Given the description of an element on the screen output the (x, y) to click on. 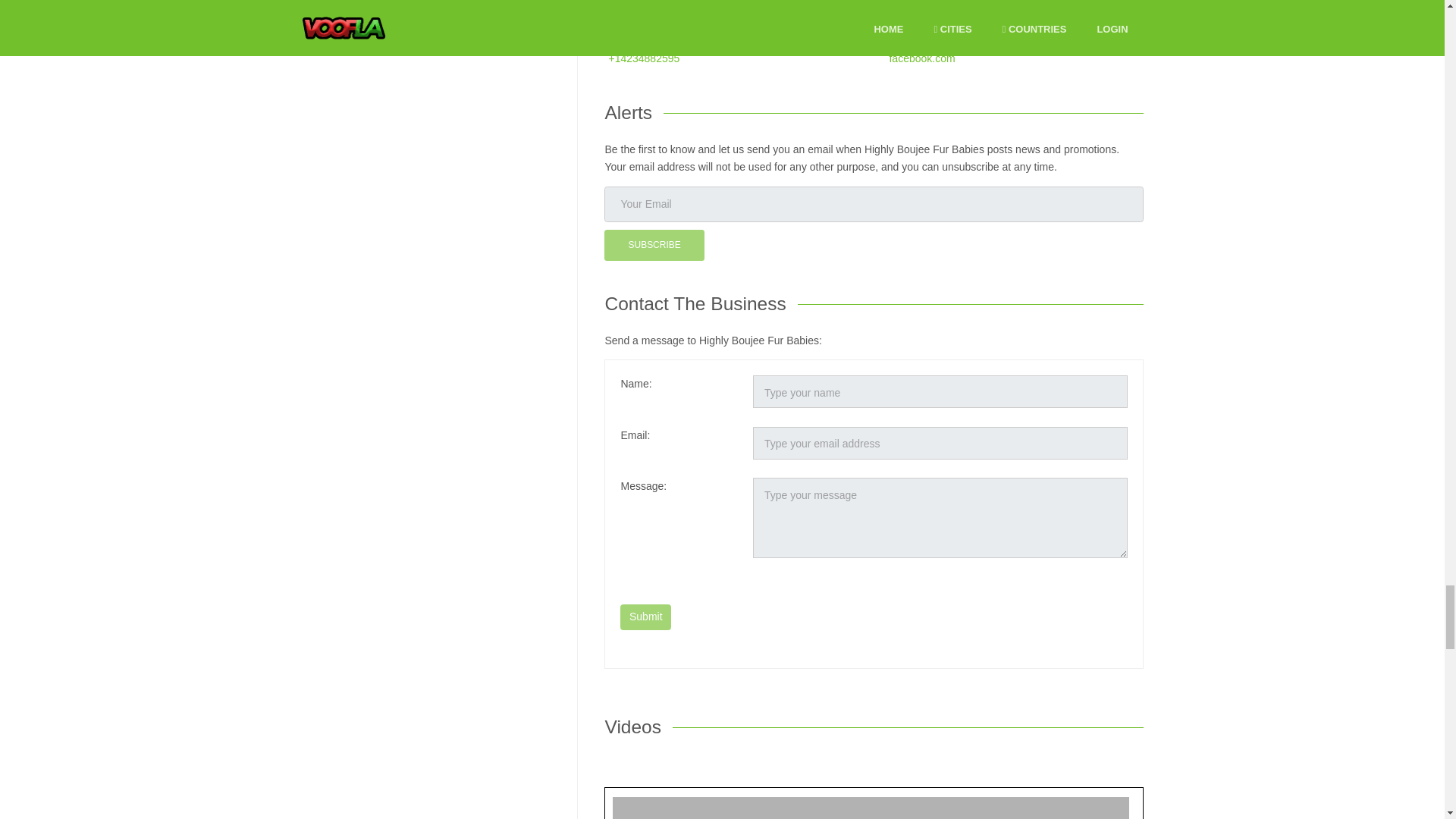
Submit (645, 616)
facebook.com (921, 58)
SUBSCRIBE (653, 245)
Submit (645, 616)
